Given the description of an element on the screen output the (x, y) to click on. 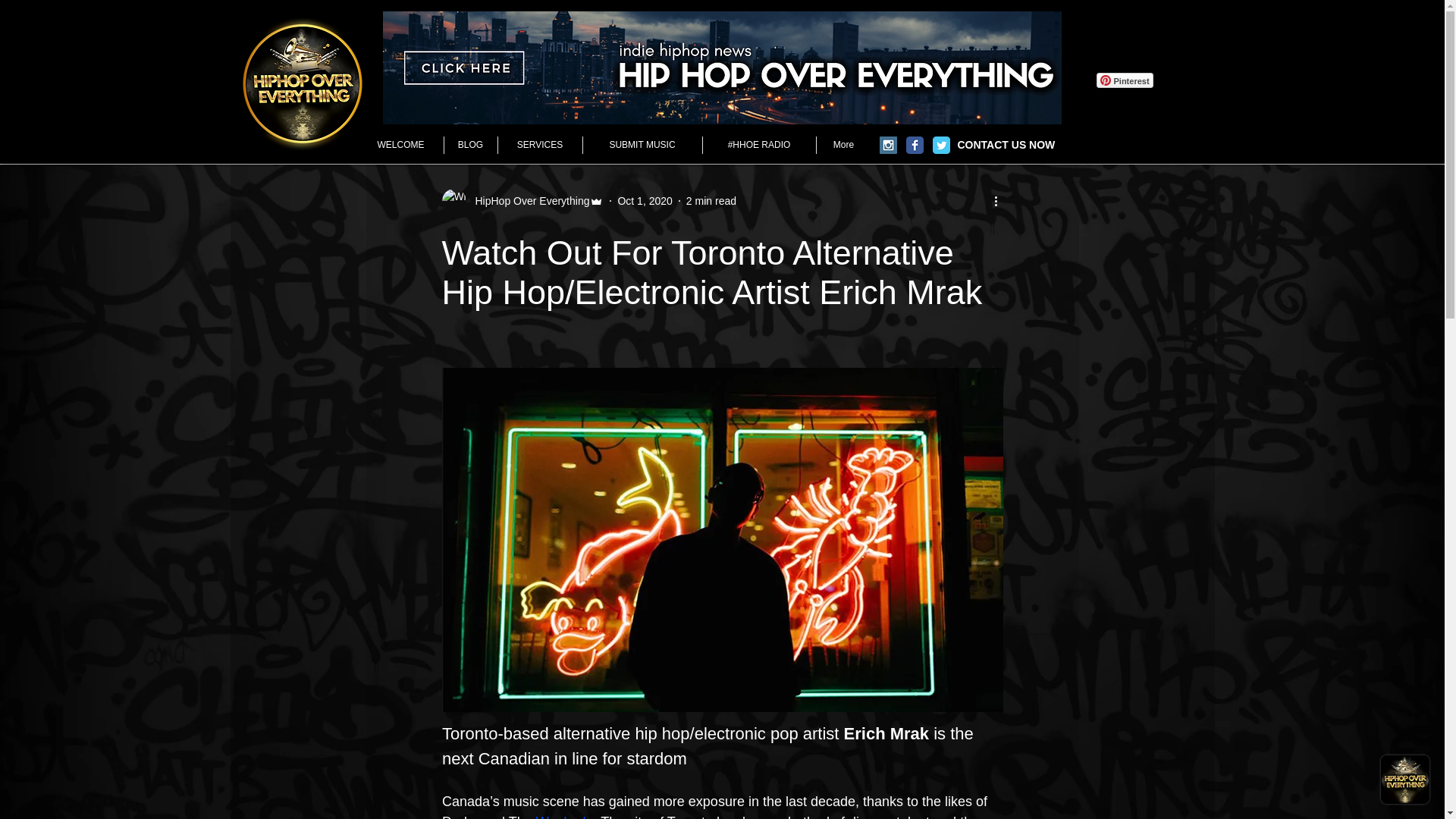
Weeknd (560, 816)
Oct 1, 2020 (644, 200)
BLOG (470, 144)
2 min read (710, 200)
Twitter Follow (1123, 59)
Featured (438, 97)
SERVICES (538, 144)
Interviews (679, 97)
Pinterest (1124, 79)
Hip-Hop (824, 97)
New Music (753, 97)
WELCOME (400, 144)
Facebook Like (1122, 30)
All Posts (368, 97)
Music Video (601, 97)
